Given the description of an element on the screen output the (x, y) to click on. 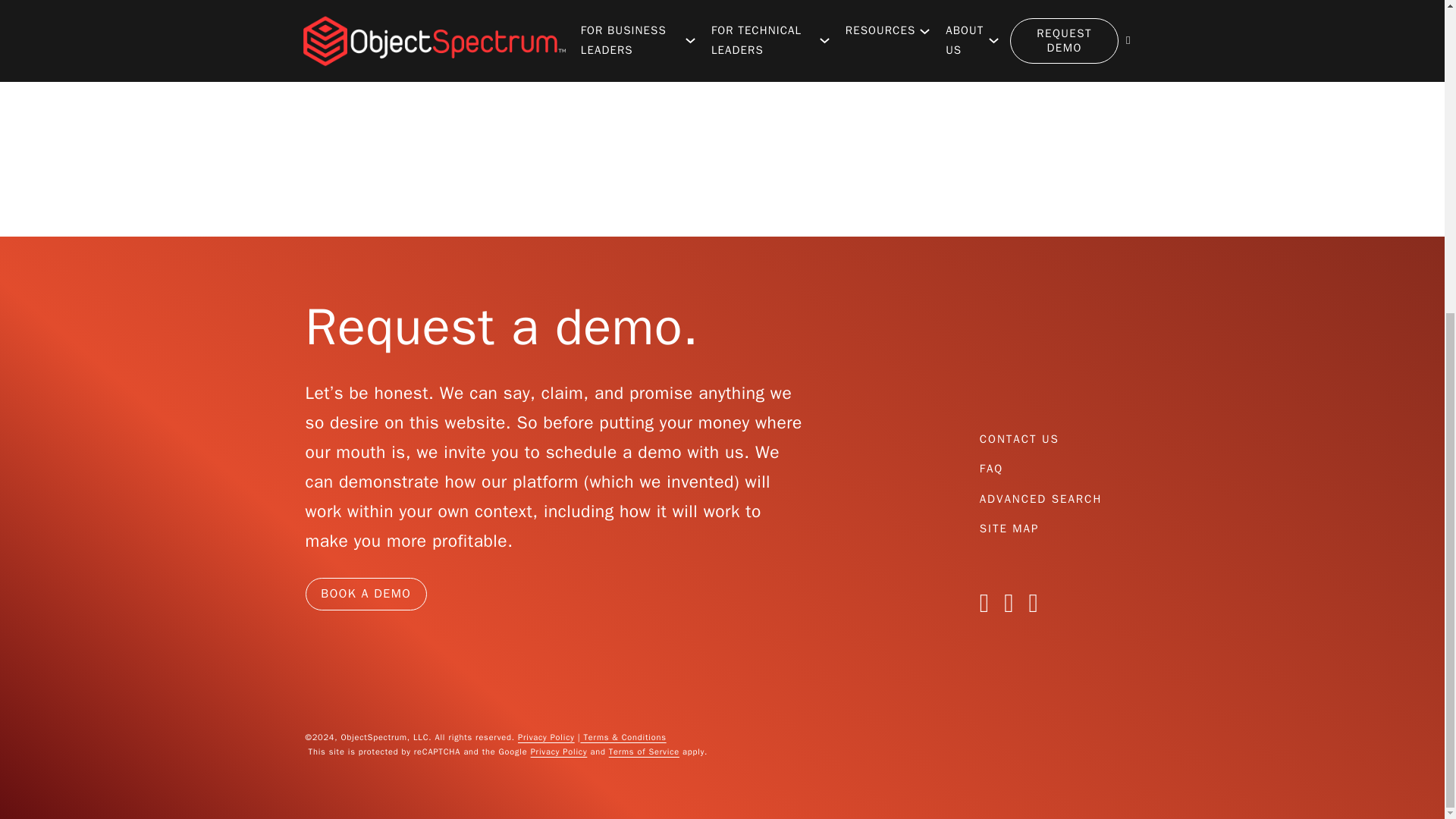
FAQs (991, 469)
Advanced Search (1040, 499)
